Given the description of an element on the screen output the (x, y) to click on. 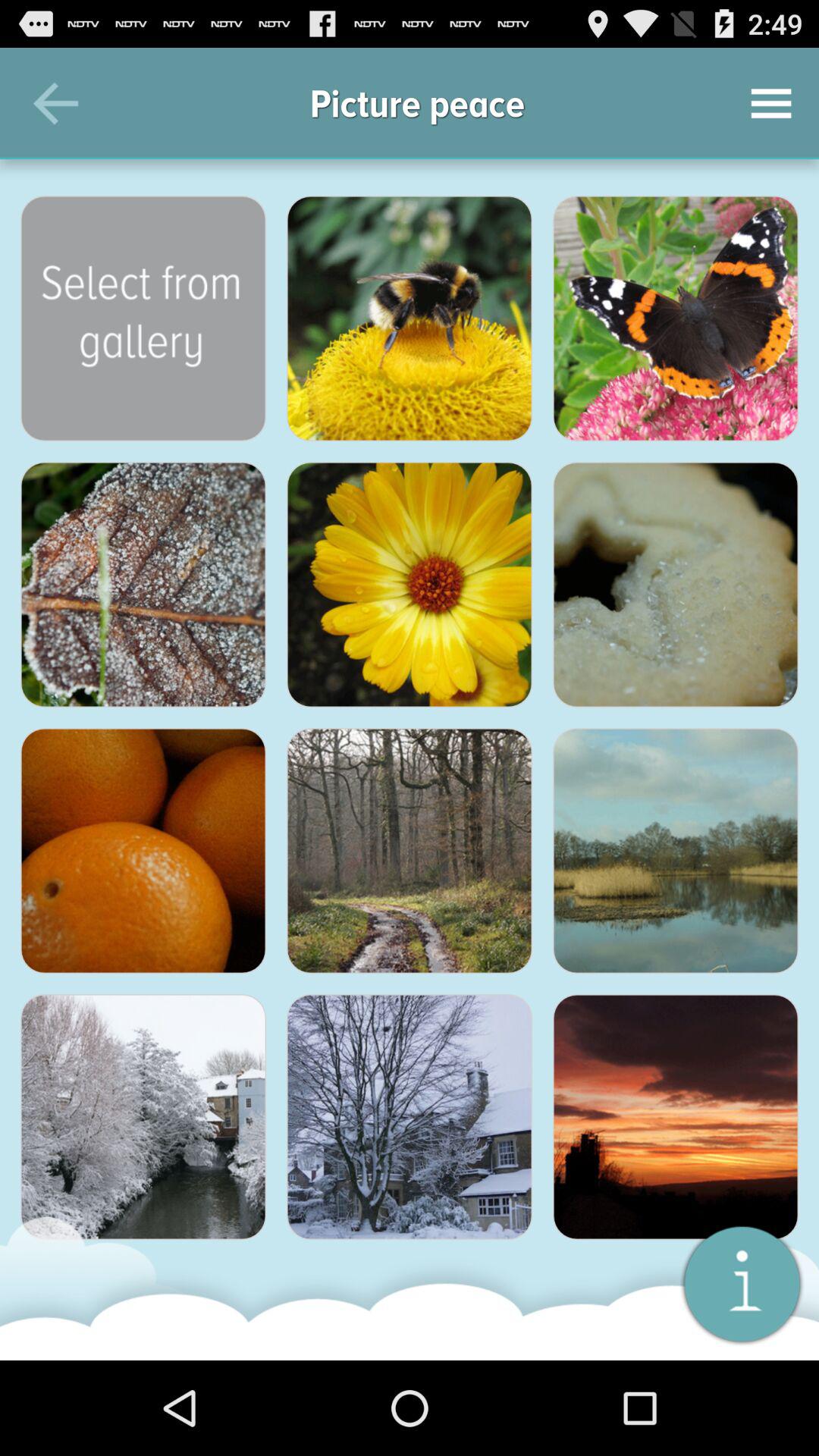
select item next to the picture peace icon (55, 103)
